Given the description of an element on the screen output the (x, y) to click on. 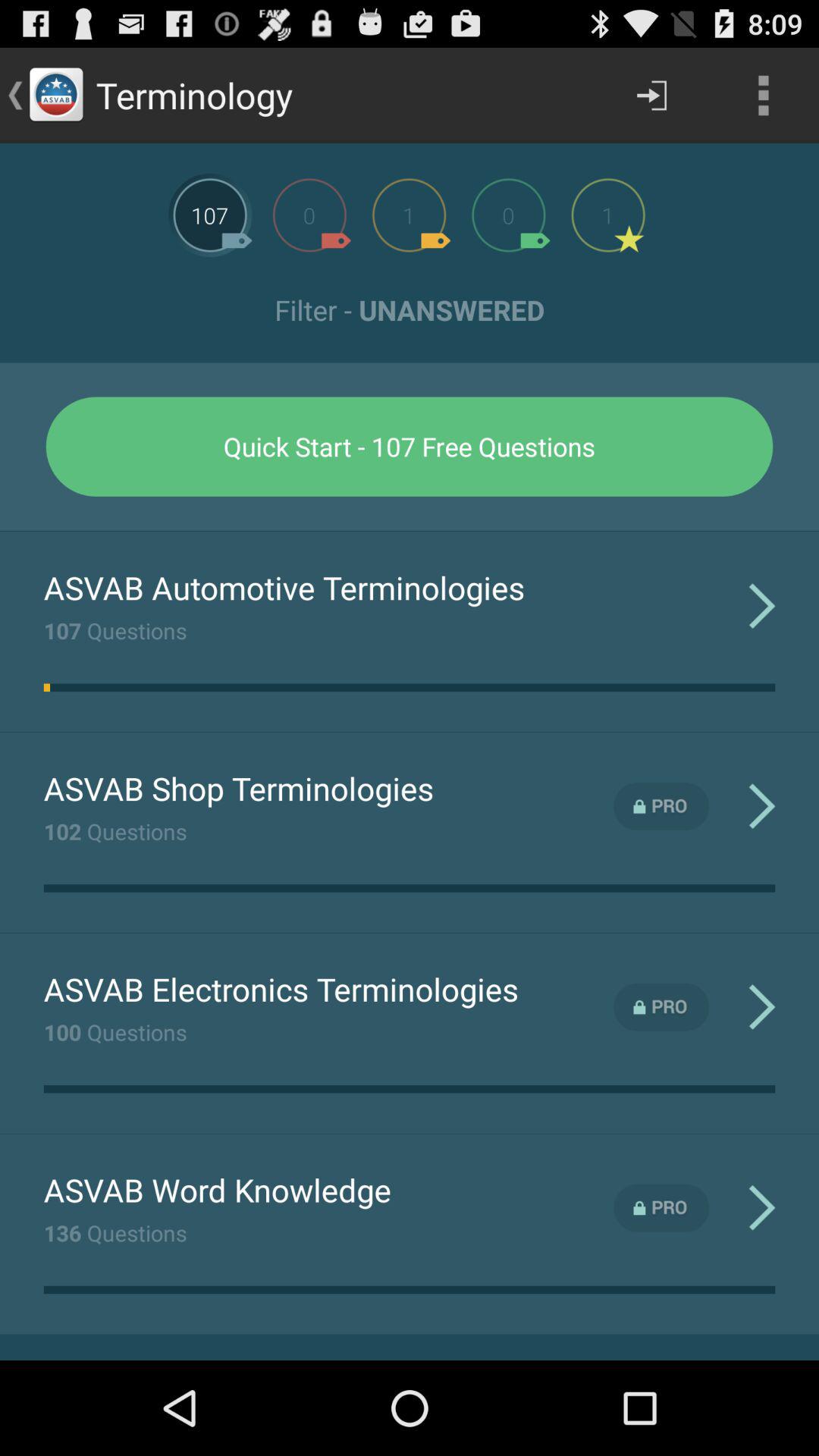
choose asvab word knowledge app (217, 1189)
